Given the description of an element on the screen output the (x, y) to click on. 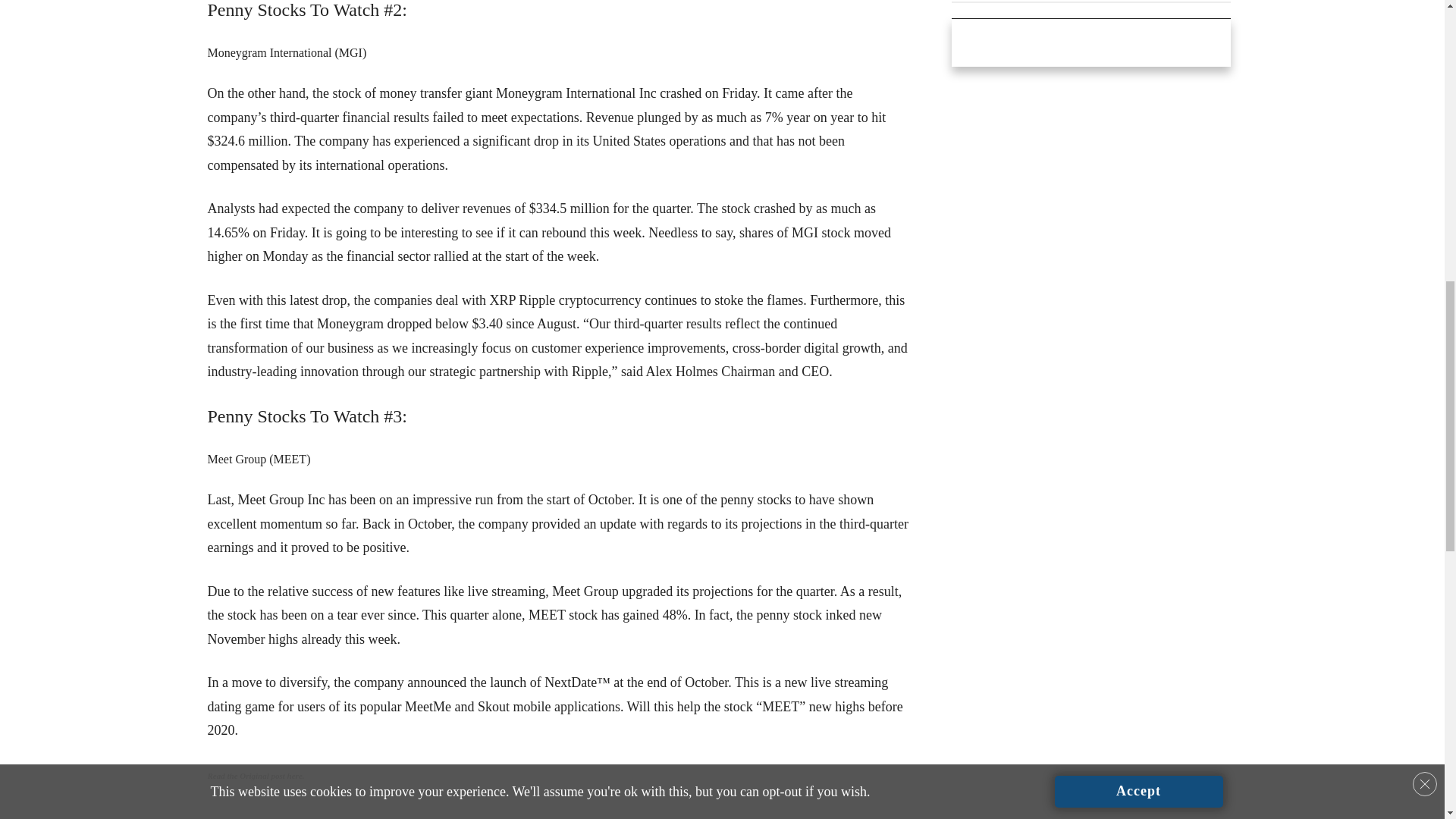
Read the Original post here. (256, 775)
